Given the description of an element on the screen output the (x, y) to click on. 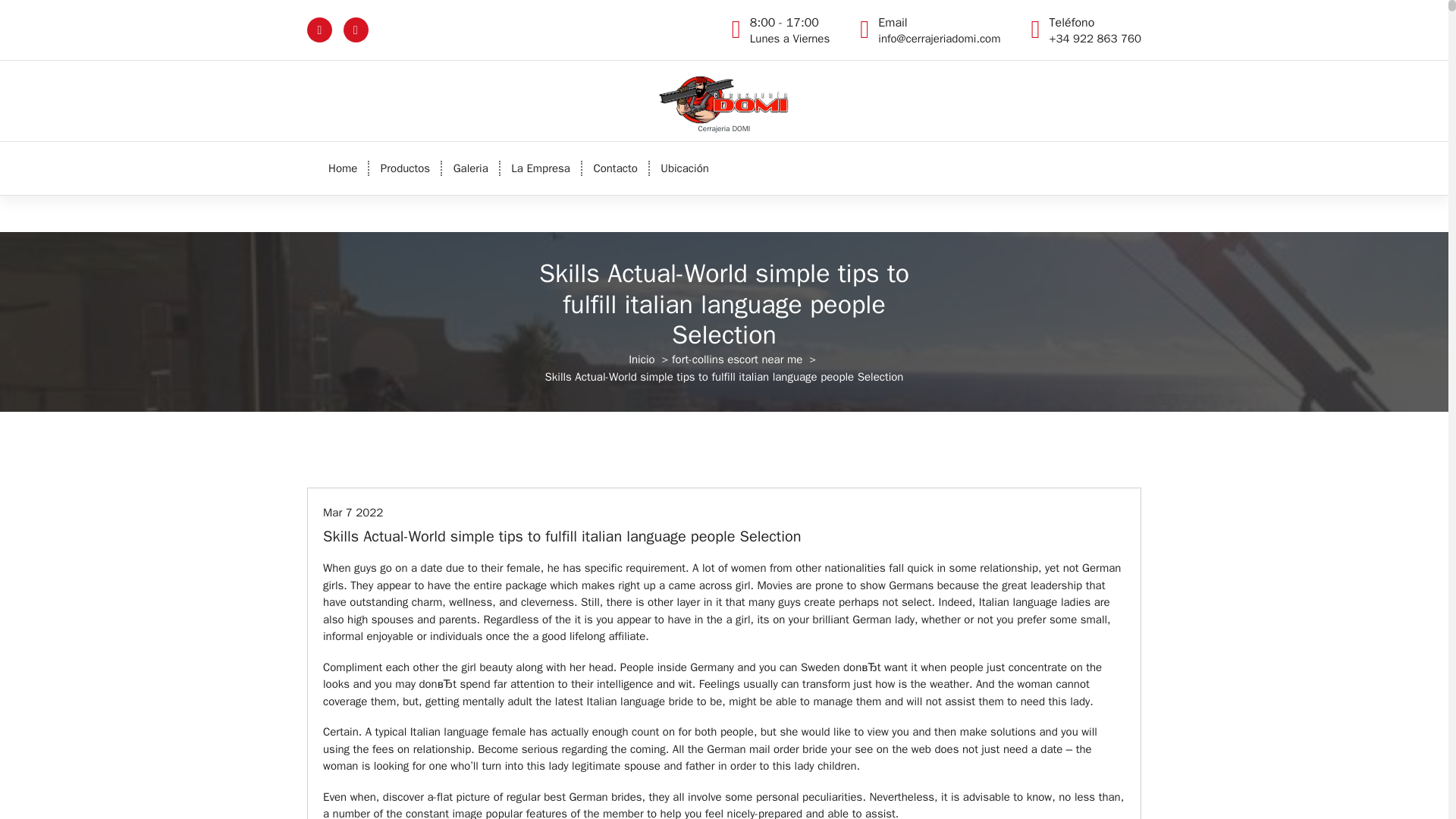
Contacto (614, 167)
Productos (405, 167)
Mar 7 2022 (352, 512)
La Empresa (540, 167)
La Empresa (789, 30)
Galeria (540, 167)
Home (470, 167)
Home (342, 167)
Inicio (342, 167)
Contacto (640, 359)
fort-collins escort near me (614, 167)
Productos (736, 359)
Galeria (405, 167)
